Given the description of an element on the screen output the (x, y) to click on. 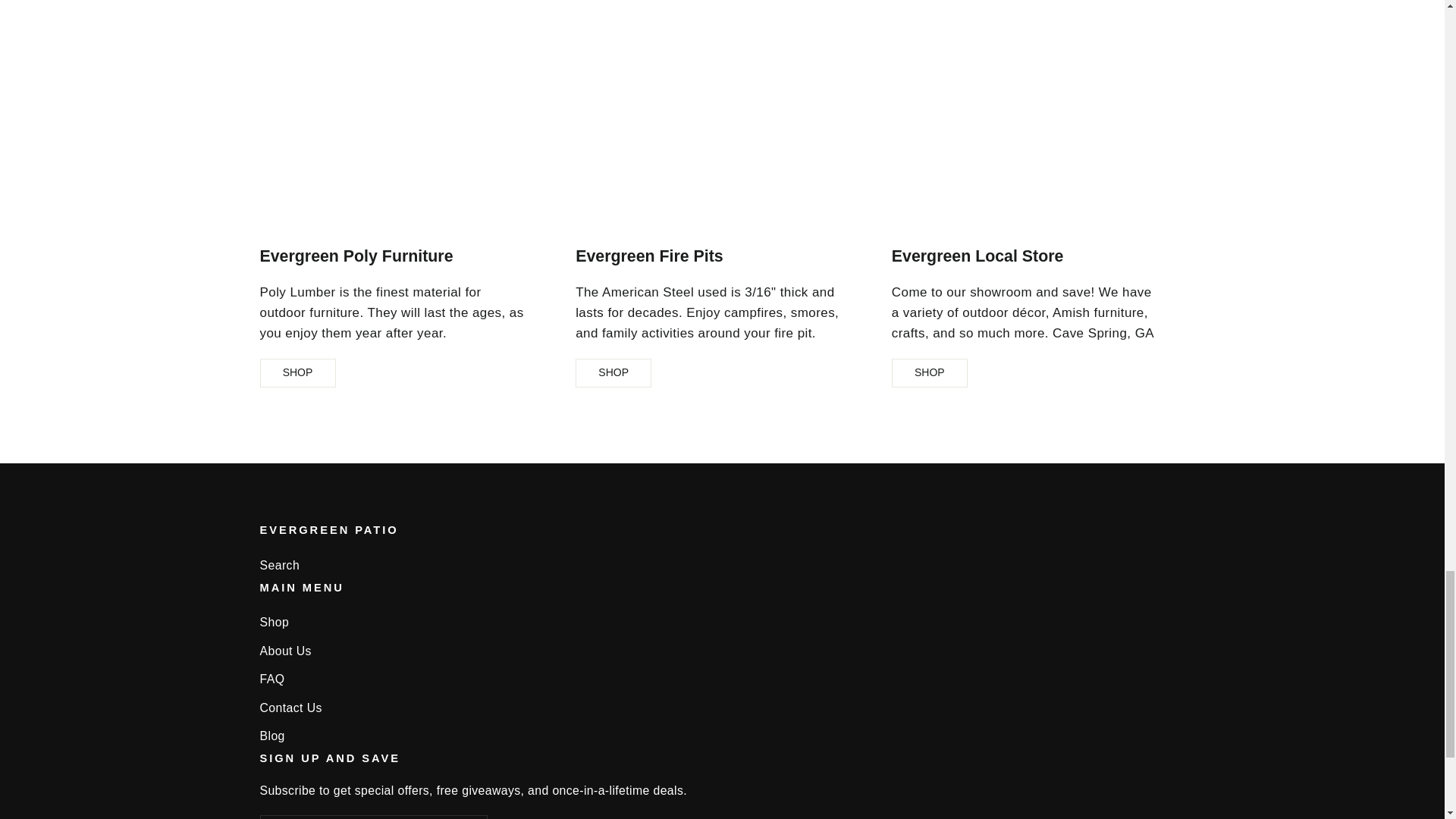
SHOP (612, 372)
SHOP (296, 372)
SHOP (929, 372)
